Given the description of an element on the screen output the (x, y) to click on. 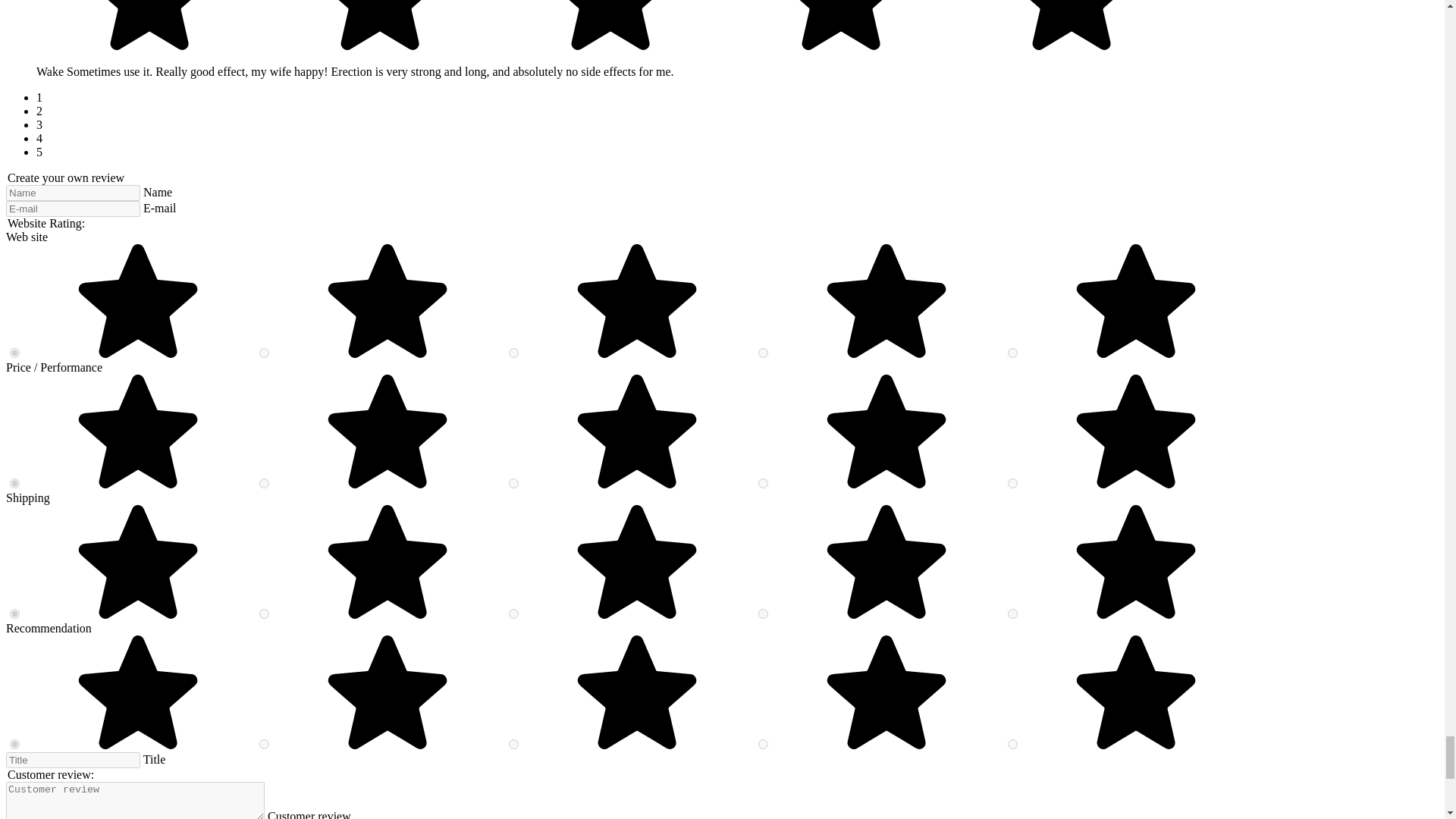
4 (264, 744)
2 (763, 352)
1 (1012, 614)
5 (15, 744)
2 (763, 614)
4 (264, 614)
1 (1012, 352)
3 (513, 483)
5 (15, 483)
2 (763, 483)
